Given the description of an element on the screen output the (x, y) to click on. 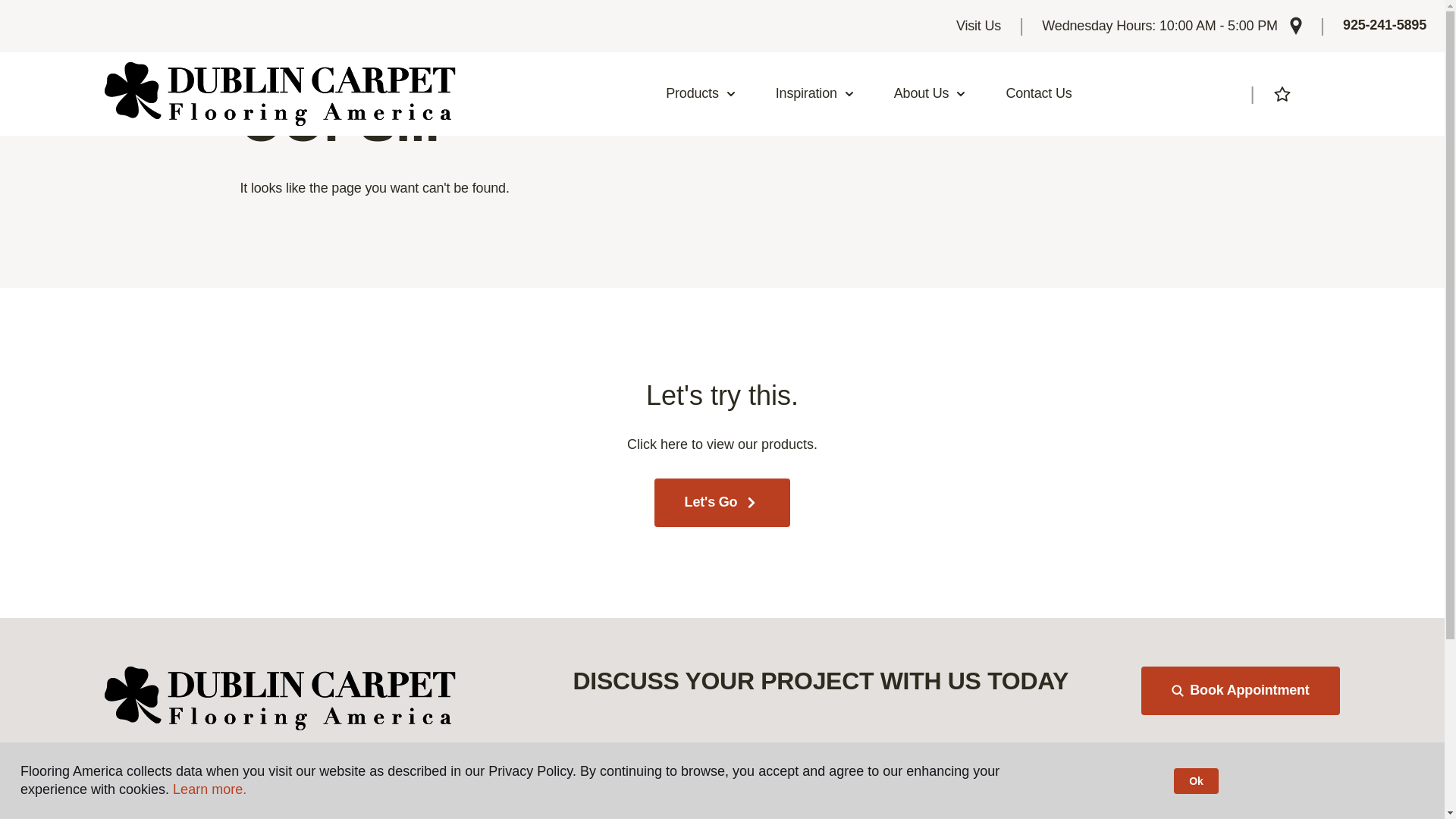
Products (700, 94)
Contact Us (1038, 94)
Inspiration (815, 94)
925-241-5895 (1384, 25)
About Us (930, 94)
Visit Us (978, 26)
